Given the description of an element on the screen output the (x, y) to click on. 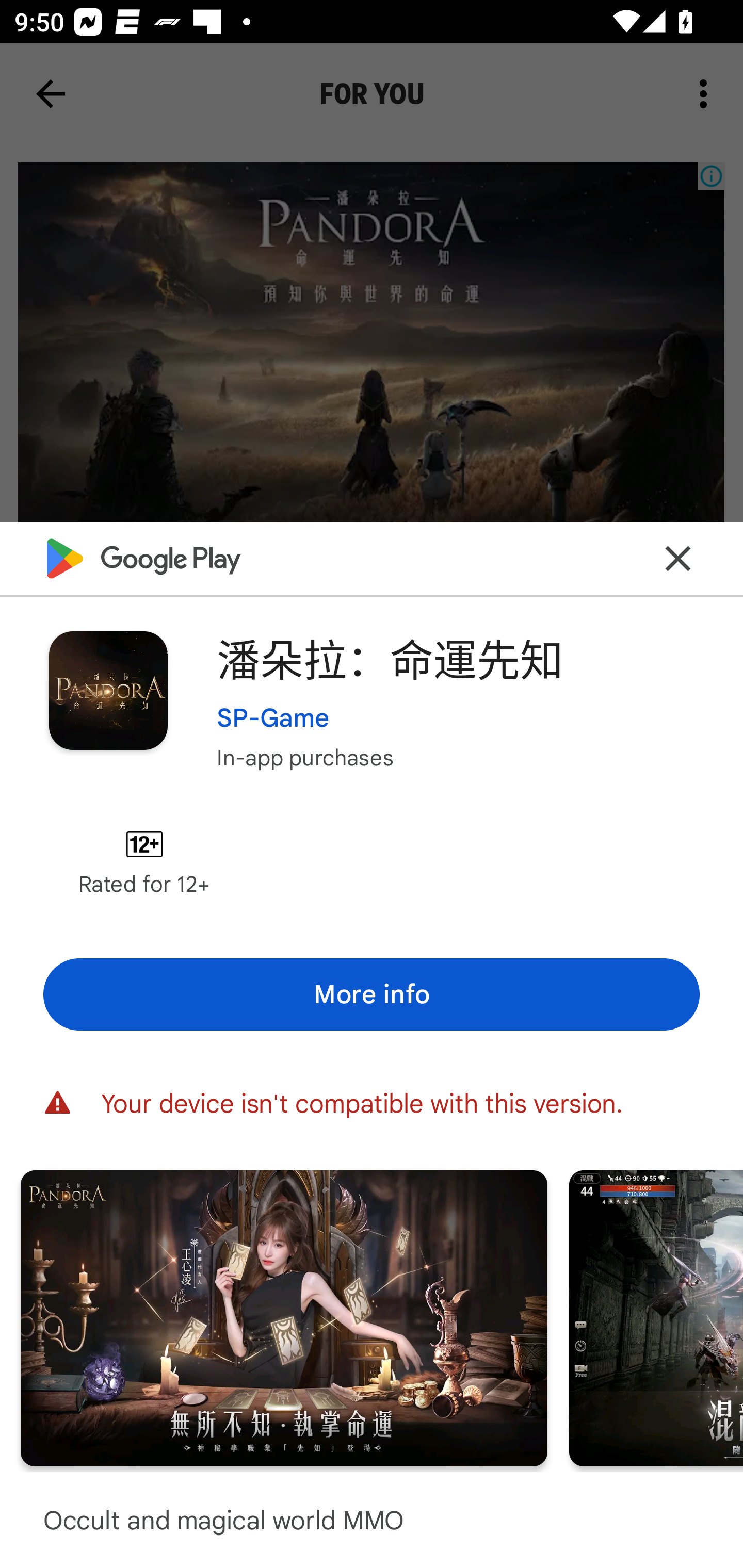
Close (677, 558)
Image of app or game icon for 潘朵拉：命運先知 (108, 690)
SP-Game (272, 716)
More info (371, 994)
Screenshot "2" of "6" (283, 1317)
